Given the description of an element on the screen output the (x, y) to click on. 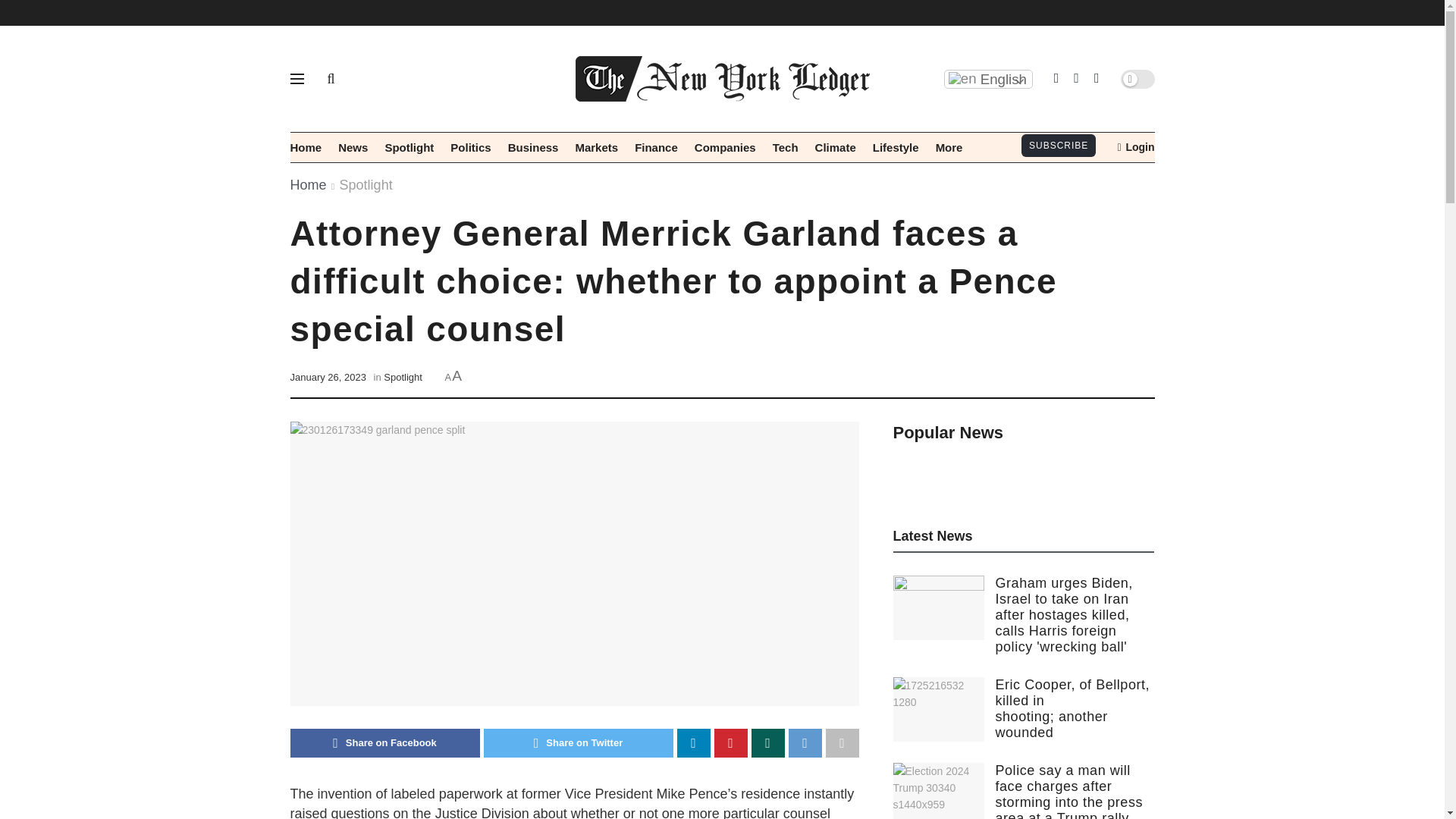
Home (305, 147)
News (352, 147)
English (987, 78)
